Given the description of an element on the screen output the (x, y) to click on. 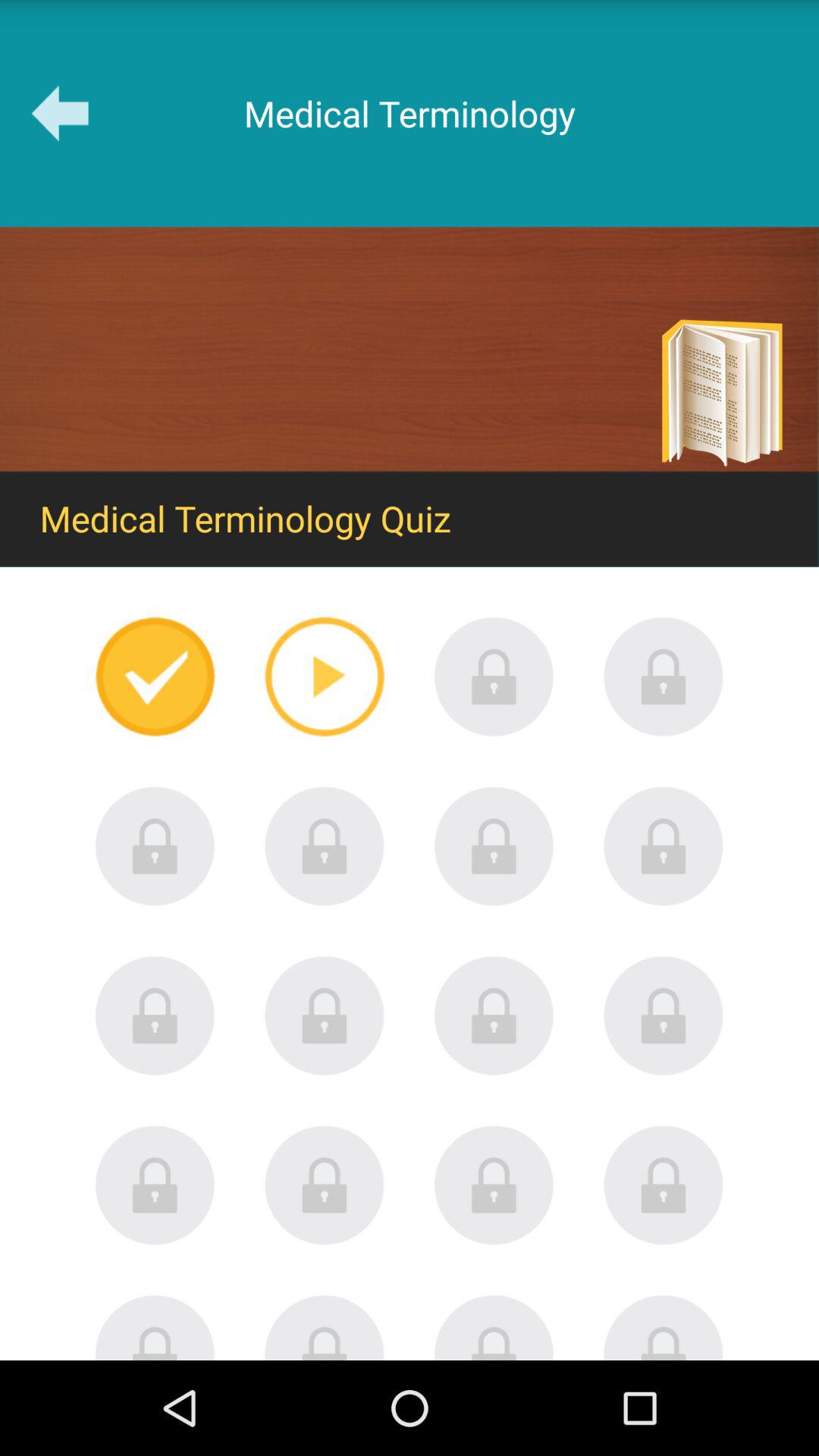
unlock this quiz (663, 1327)
